Given the description of an element on the screen output the (x, y) to click on. 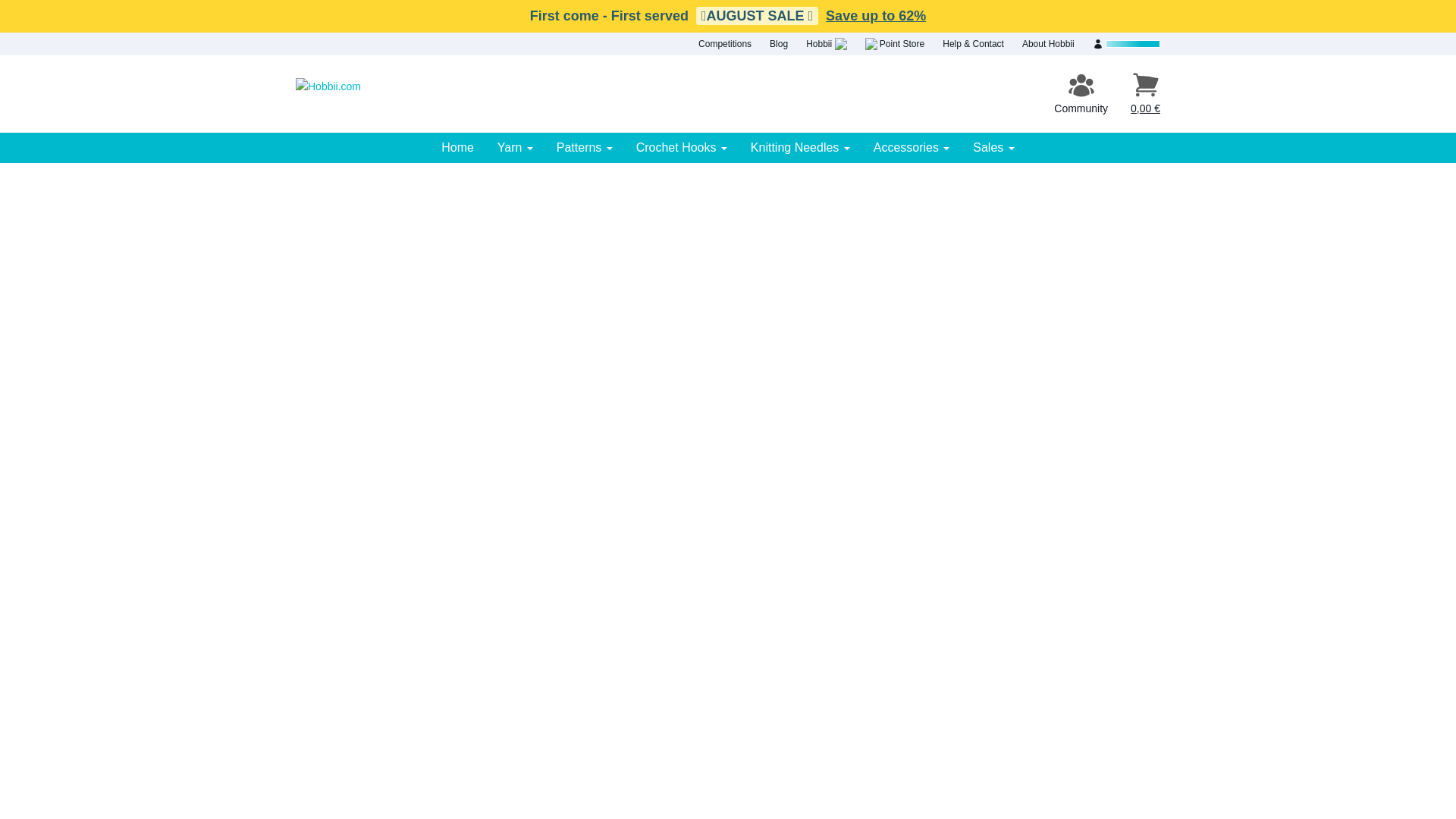
Competitions (724, 43)
Hobbii (825, 43)
About Hobbii (1048, 43)
Hobbii.com (328, 93)
Community (1081, 93)
Point Store (894, 43)
Community (1081, 93)
